Given the description of an element on the screen output the (x, y) to click on. 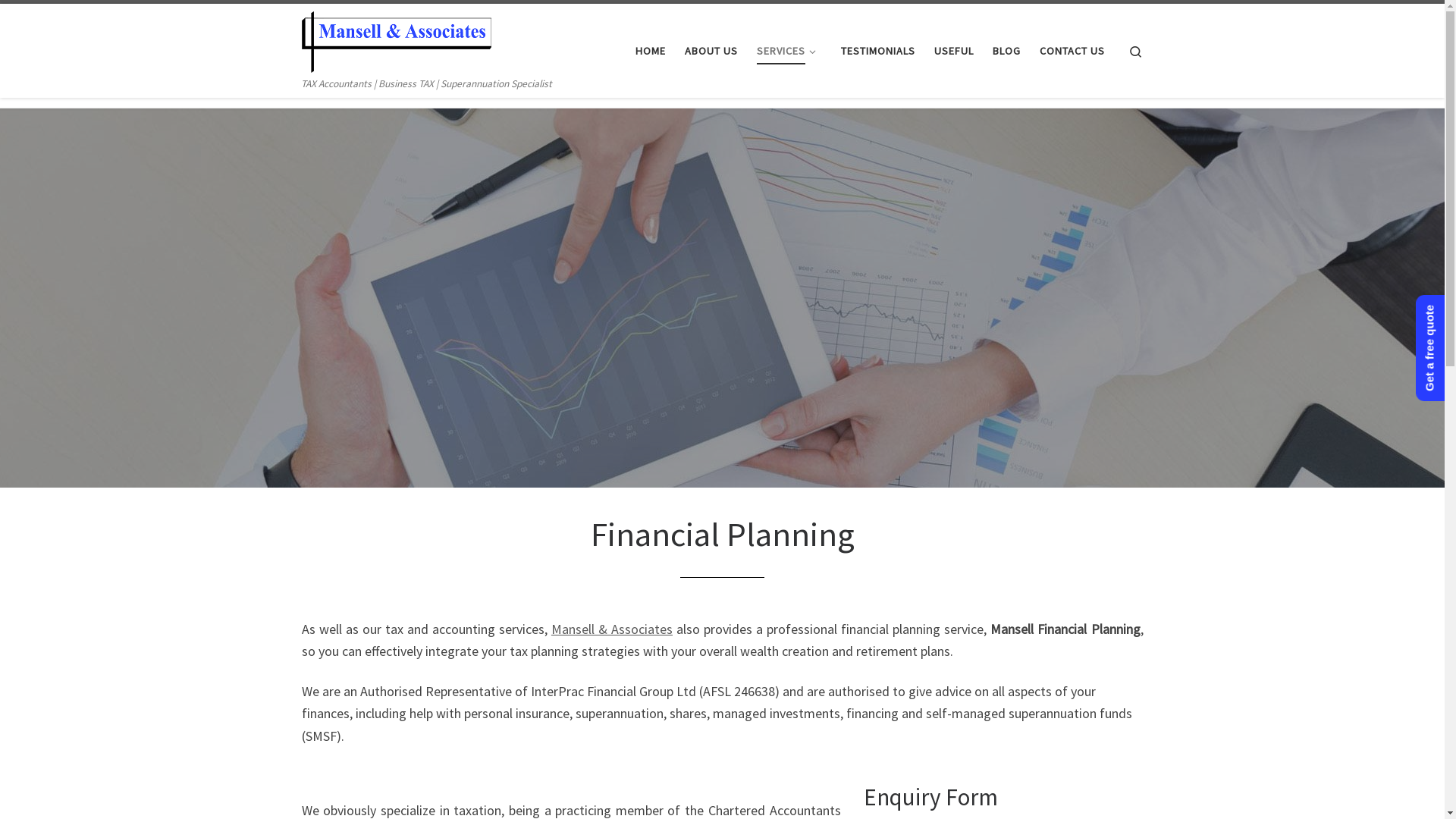
CONTACT US Element type: text (1071, 51)
USEFUL Element type: text (953, 51)
HOME Element type: text (650, 51)
Mansell & Associates Element type: text (611, 628)
BLOG Element type: text (1006, 51)
ABOUT US Element type: text (711, 51)
SERVICES Element type: text (789, 51)
Search Element type: text (1135, 50)
TESTIMONIALS Element type: text (877, 51)
